Given the description of an element on the screen output the (x, y) to click on. 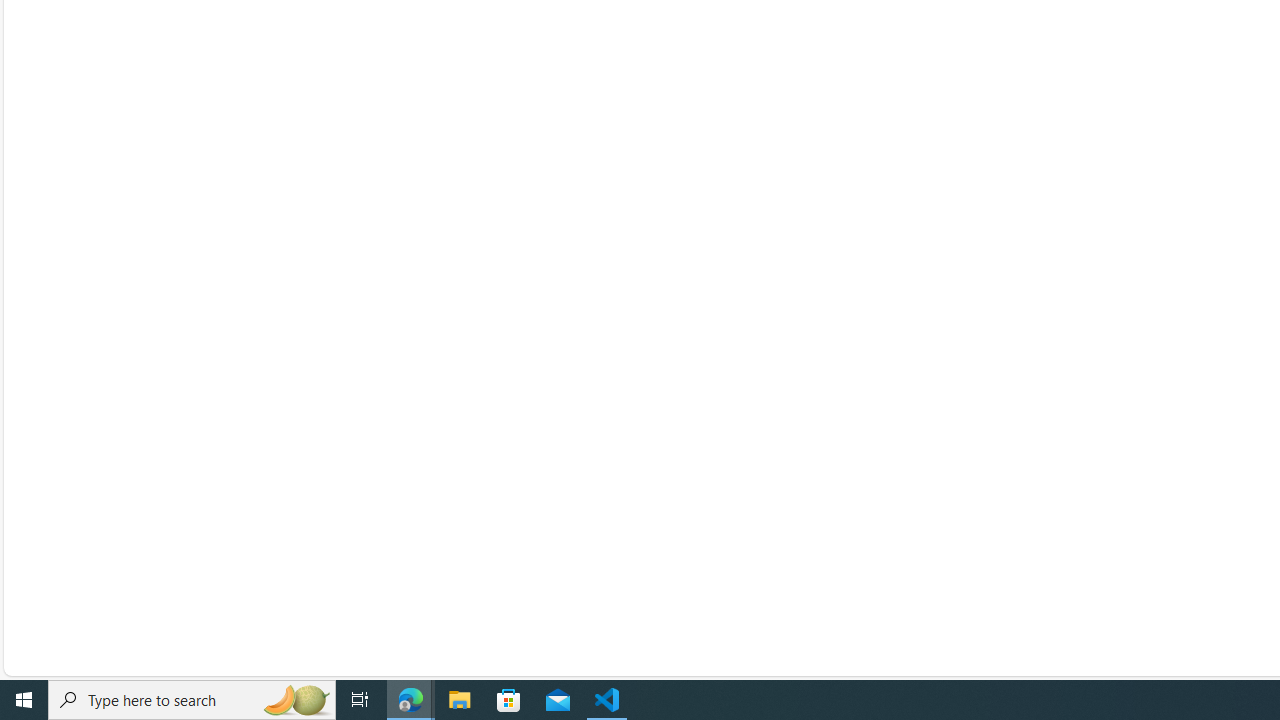
Account profile Microsoft Store (775, 339)
Devices for education Education (1057, 372)
Educator training and development (1126, 500)
Flexible Payments Microsoft Store (781, 564)
Returns (859, 436)
How to buy for your school Education (1070, 467)
Surface Laptop Go 3 (587, 436)
Microsoft Store Promise (859, 532)
Consumer Health Privacy (861, 629)
Order tracking (859, 468)
Deals for students and parents (1126, 532)
Download Center Microsoft Store (781, 372)
AI in Windows (587, 500)
Your Privacy Choices Opt-Out Icon Your Privacy Choices (705, 629)
